Given the description of an element on the screen output the (x, y) to click on. 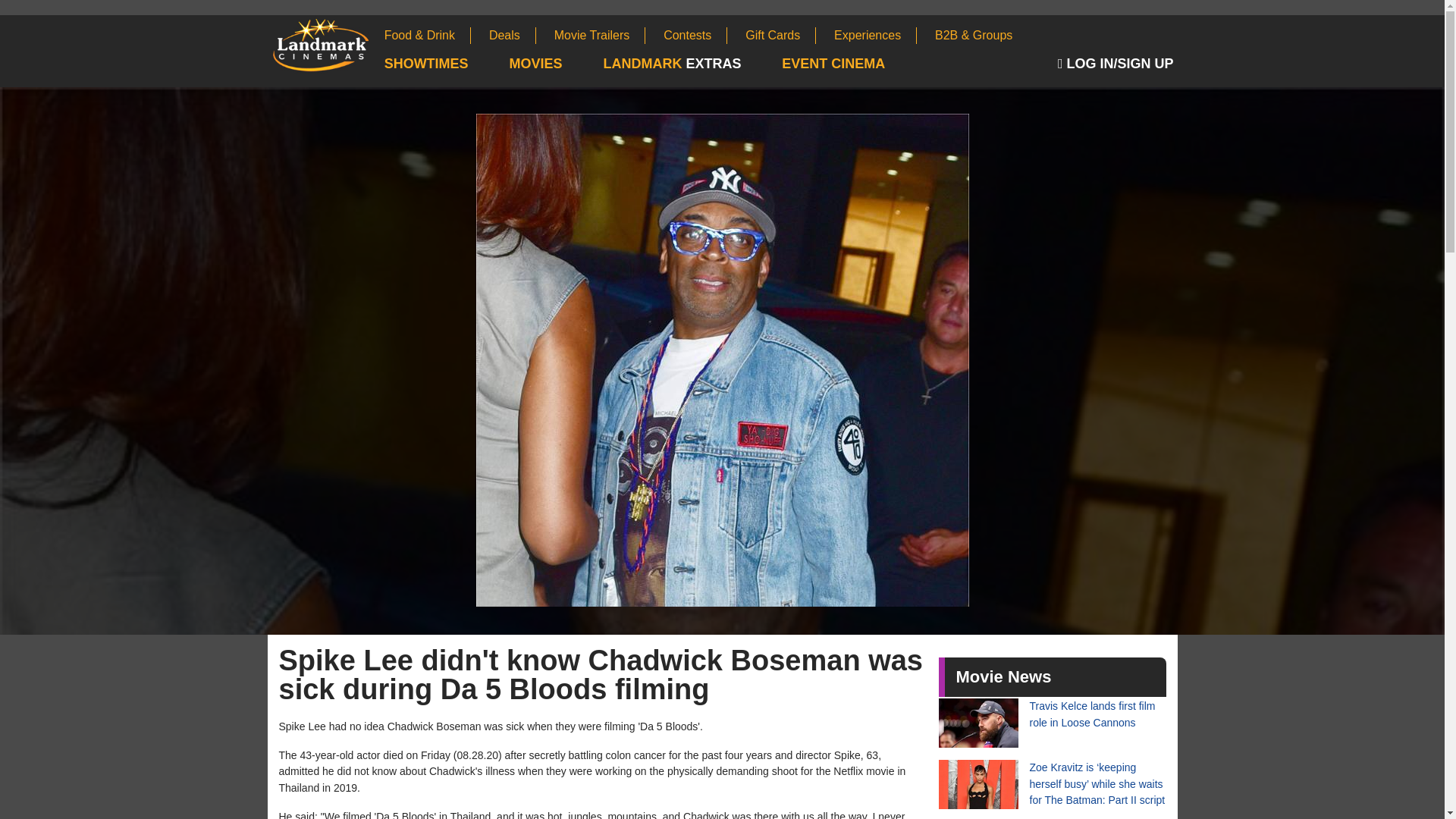
Watch Movie Trailers (600, 35)
Movie Experiences and PLF (875, 35)
Travis Kelce lands first film role in Loose Cannons (1052, 722)
Movie Trailers (600, 35)
Deals (512, 35)
Contests (694, 35)
Check Local Showtimes (445, 64)
SHOWTIMES (445, 64)
MOVIES (554, 64)
Experiences (875, 35)
